Given the description of an element on the screen output the (x, y) to click on. 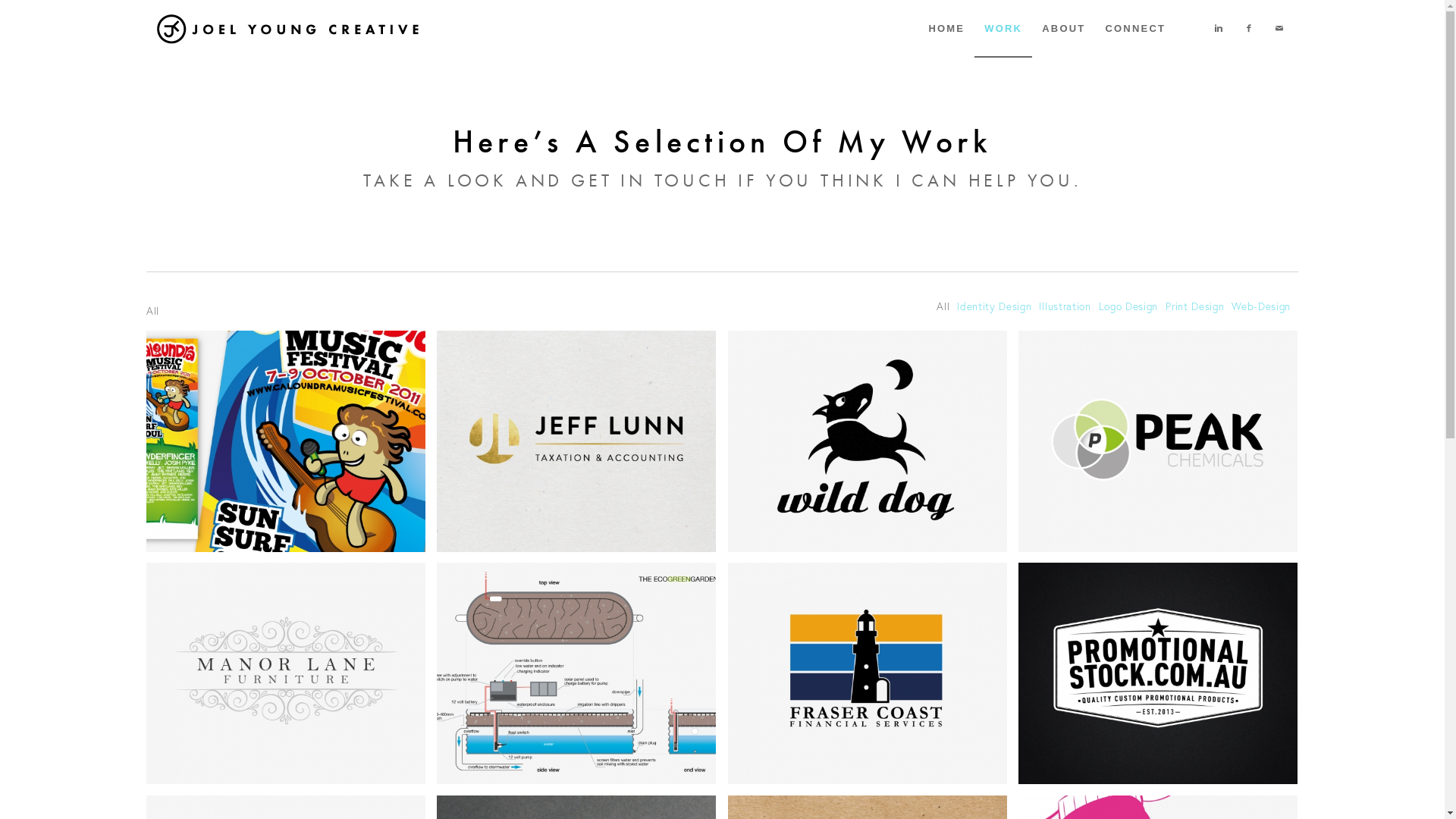
CONNECT Element type: text (1135, 28)
WORK Element type: text (1003, 28)
promostock-logo Element type: hover (1163, 678)
Print Design Element type: text (1194, 307)
fcfs-logo Element type: hover (873, 678)
CMF Poster Design Element type: hover (286, 441)
jefflunn-accounting-logo Element type: hover (582, 446)
fcfs-logo Element type: hover (867, 673)
Linkedin Element type: hover (1218, 27)
Peak Chemicals logo Element type: hover (1163, 446)
HOME Element type: text (946, 28)
promostock-logo Element type: hover (1158, 673)
Identity Design Element type: text (994, 307)
Web-Design Element type: text (1260, 307)
Wild Dog Logo Element type: hover (867, 441)
Illustration Element type: text (1064, 307)
All Element type: text (942, 307)
Wild Dog Logo Element type: hover (873, 446)
manorlane-logo Element type: hover (291, 678)
Facebook Element type: hover (1248, 27)
EcoGreen Garden Beds Element type: hover (576, 673)
Peak Chemicals logo Element type: hover (1158, 441)
jefflunn-accounting-logo Element type: hover (576, 441)
Mail Element type: hover (1278, 27)
Logo Design Element type: text (1127, 307)
EcoGreen Garden Beds Element type: hover (582, 678)
manorlane-logo Element type: hover (286, 673)
CMF Poster Design Element type: hover (291, 446)
ABOUT Element type: text (1063, 28)
